Given the description of an element on the screen output the (x, y) to click on. 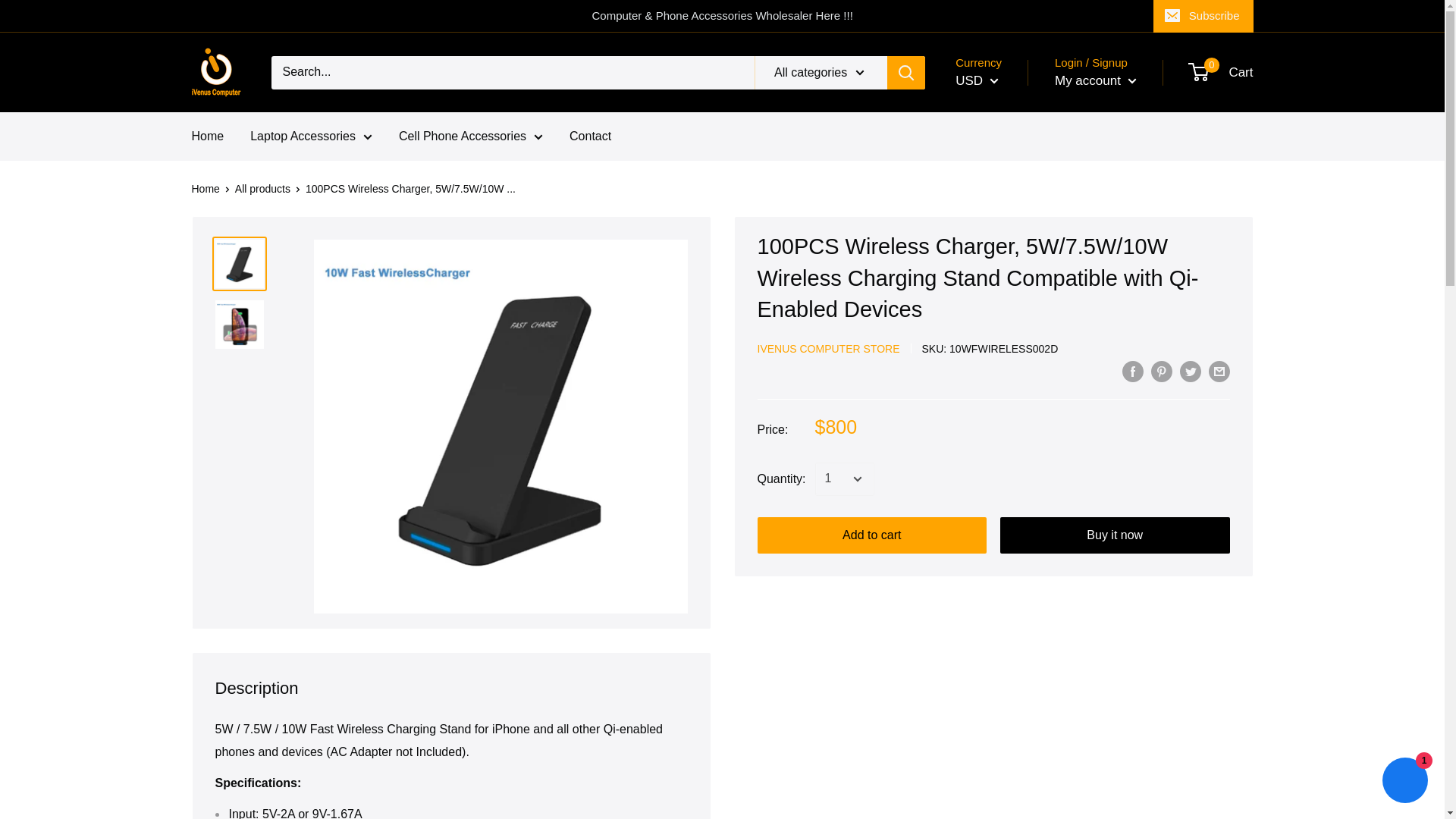
Shopify online store chat (1404, 781)
Subscribe (1203, 15)
